Given the description of an element on the screen output the (x, y) to click on. 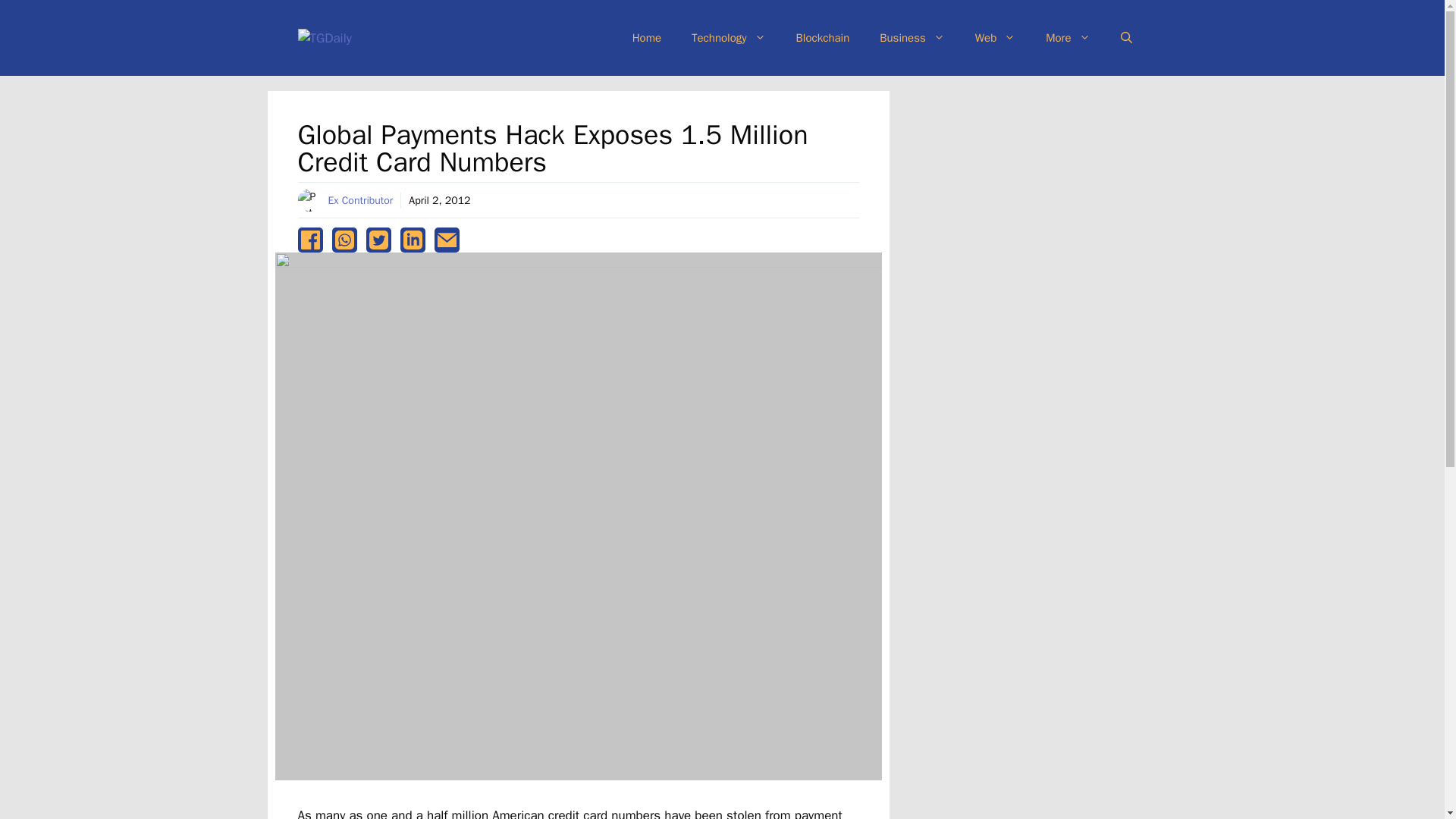
Home (647, 37)
Technology (728, 37)
More (1067, 37)
Web (994, 37)
Business (911, 37)
Blockchain (822, 37)
